Given the description of an element on the screen output the (x, y) to click on. 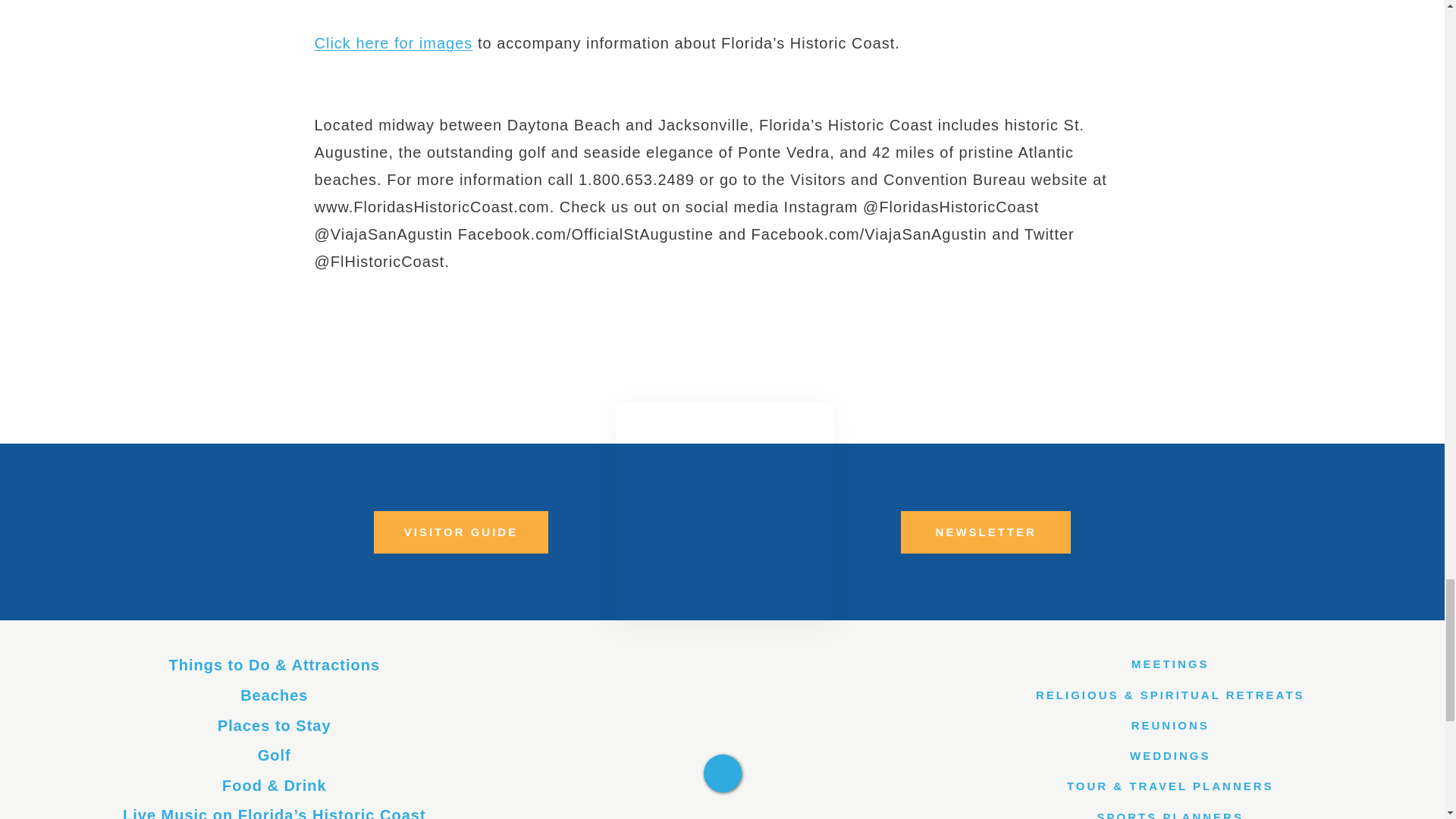
NEWSLETTER (985, 531)
Click here for images (392, 43)
VISITOR GUIDE (461, 531)
Beaches (273, 695)
